Given the description of an element on the screen output the (x, y) to click on. 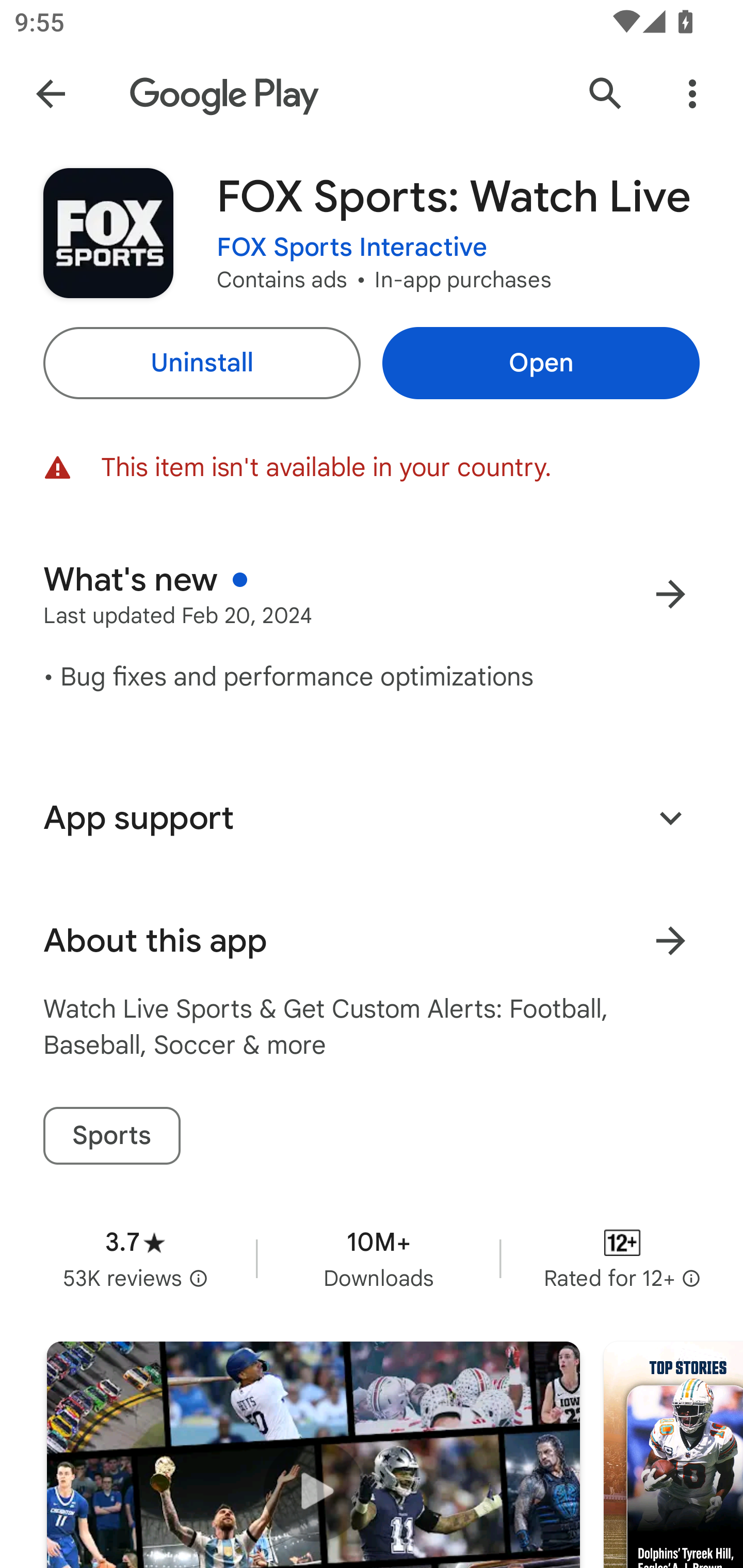
Navigate up (50, 93)
Search Google Play (605, 93)
More Options (692, 93)
FOX Sports Interactive (351, 247)
Uninstall (201, 362)
Open (540, 362)
More results for What's new (670, 594)
App support Expand (371, 817)
Expand (670, 817)
About this app Learn more About this app (371, 940)
Learn more About this app (670, 940)
Sports tag (111, 1135)
Average rating 3.7 stars in 53 thousand reviews (135, 1258)
Content rating Rated for 12+ (622, 1258)
Play trailer for "FOX Sports: Watch Live" (313, 1455)
